Given the description of an element on the screen output the (x, y) to click on. 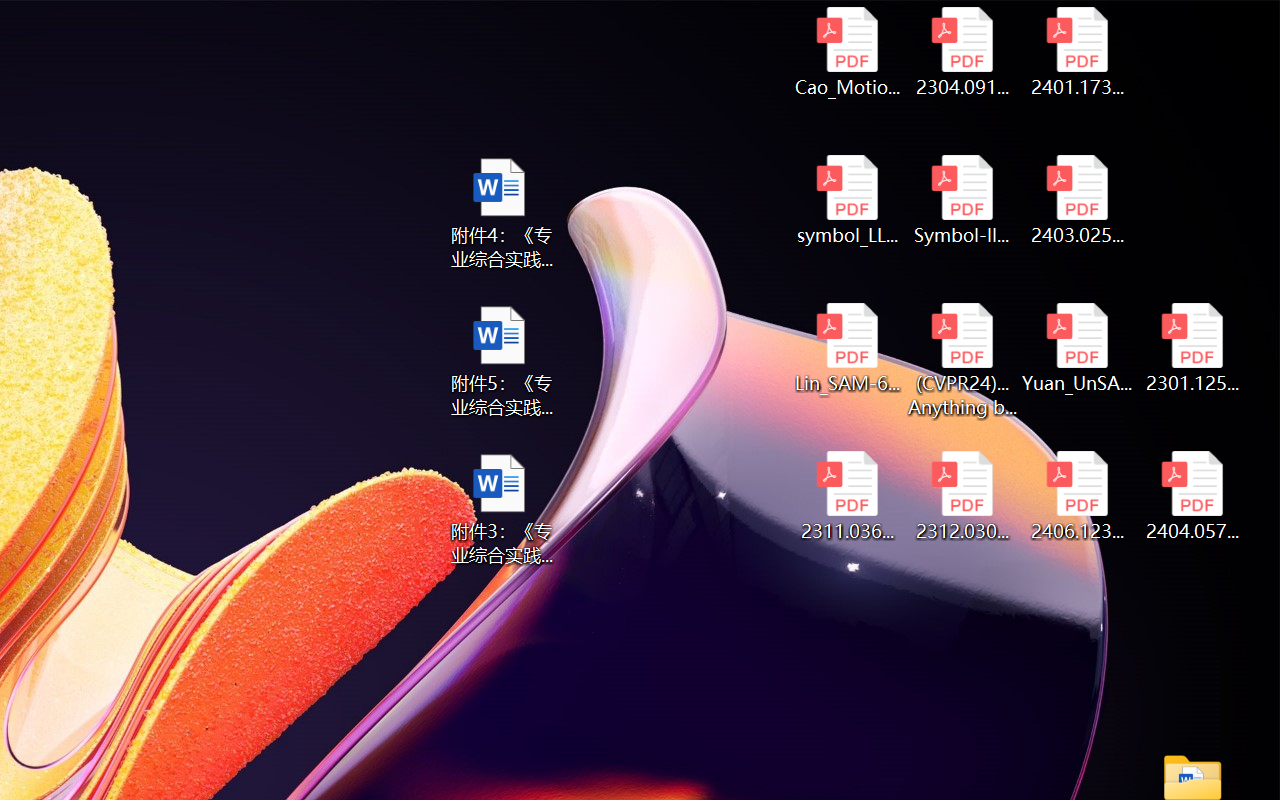
2304.09121v3.pdf (962, 52)
